Given the description of an element on the screen output the (x, y) to click on. 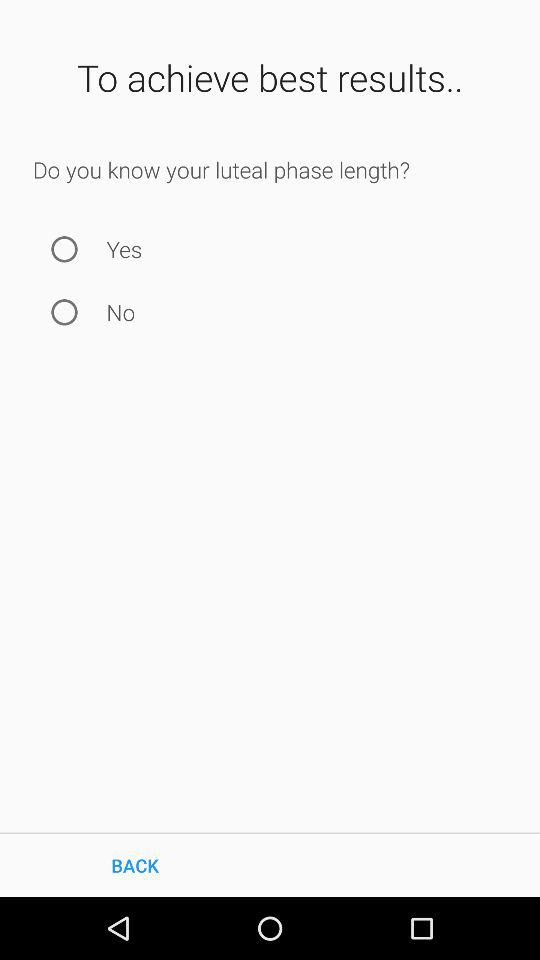
jump to the back (135, 864)
